Given the description of an element on the screen output the (x, y) to click on. 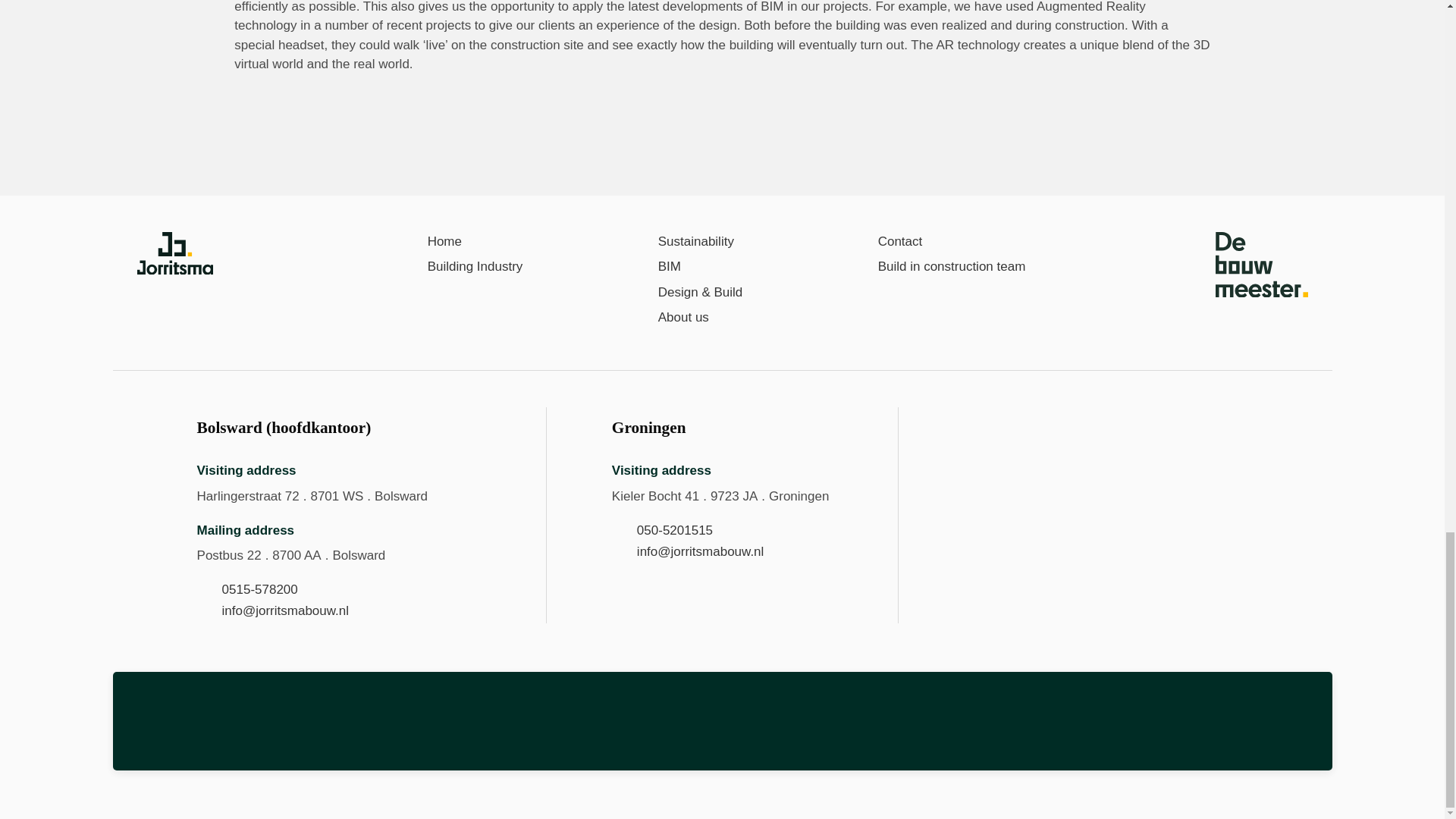
BIM (657, 266)
Sustainability (683, 241)
050-5201515 (675, 530)
Build in construction team (939, 266)
About us (671, 317)
0515-578200 (260, 589)
Building Industry (462, 266)
Contact (888, 241)
Home (432, 241)
